Given the description of an element on the screen output the (x, y) to click on. 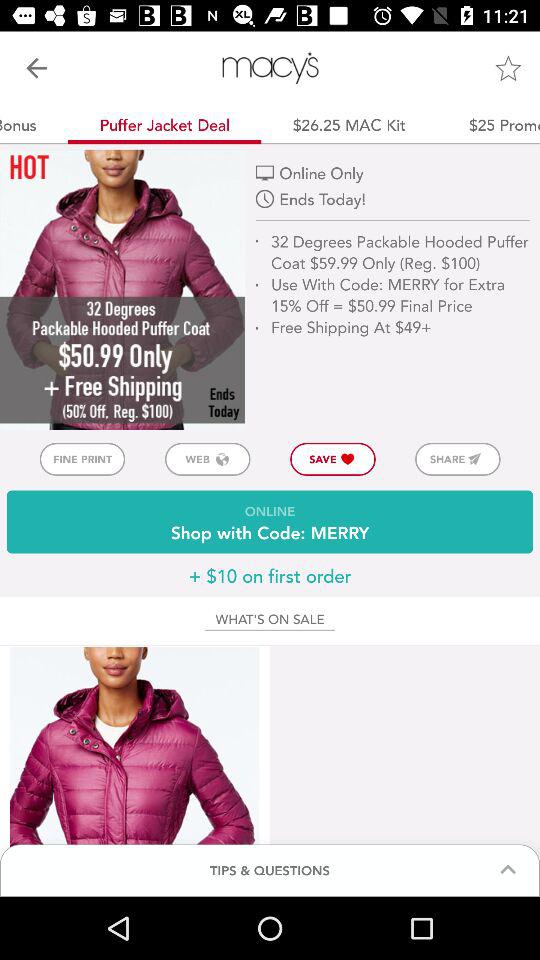
tap the save item (332, 458)
